Given the description of an element on the screen output the (x, y) to click on. 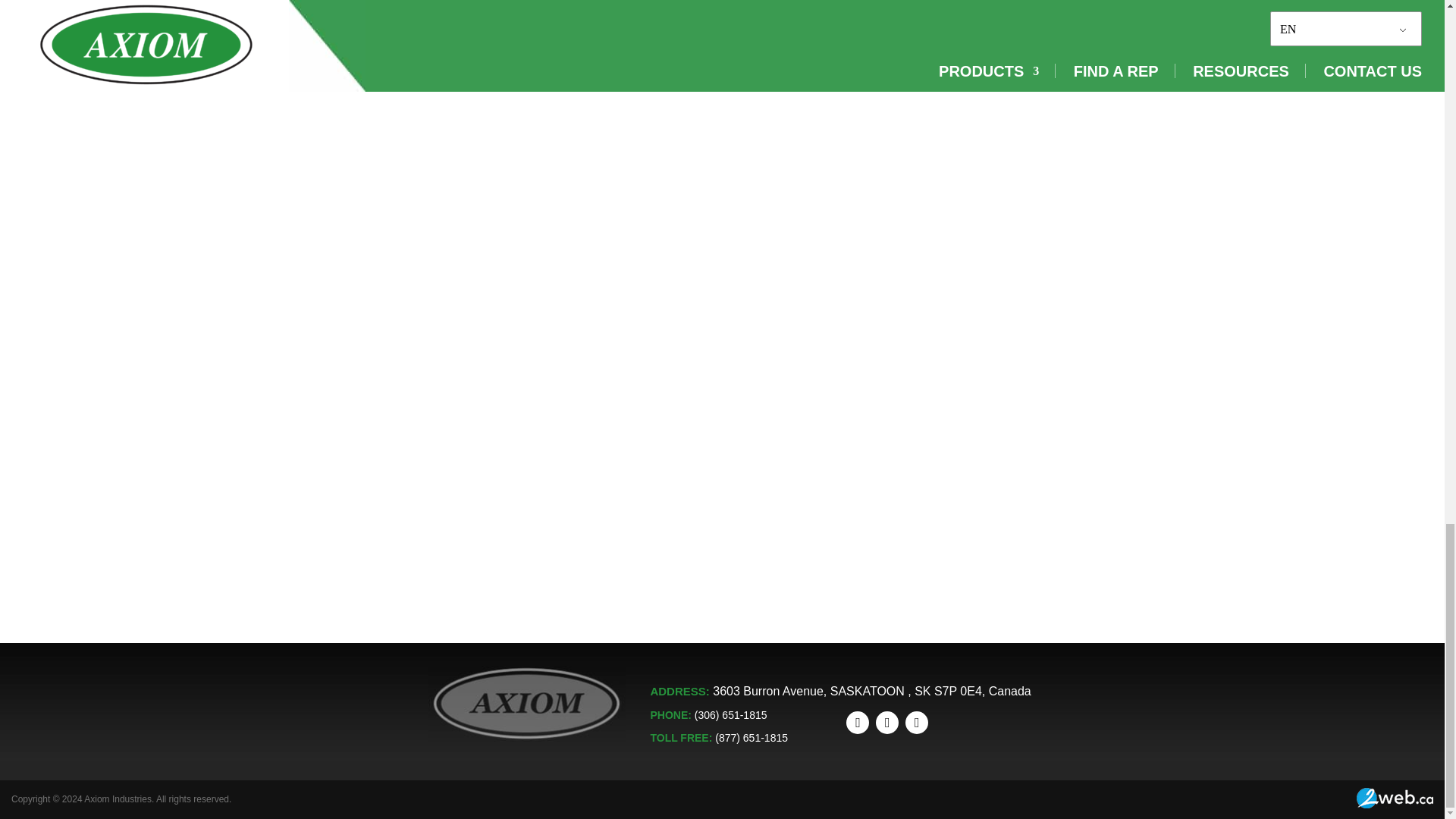
footer-2weblogo (1394, 797)
footer-logo (527, 703)
